Given the description of an element on the screen output the (x, y) to click on. 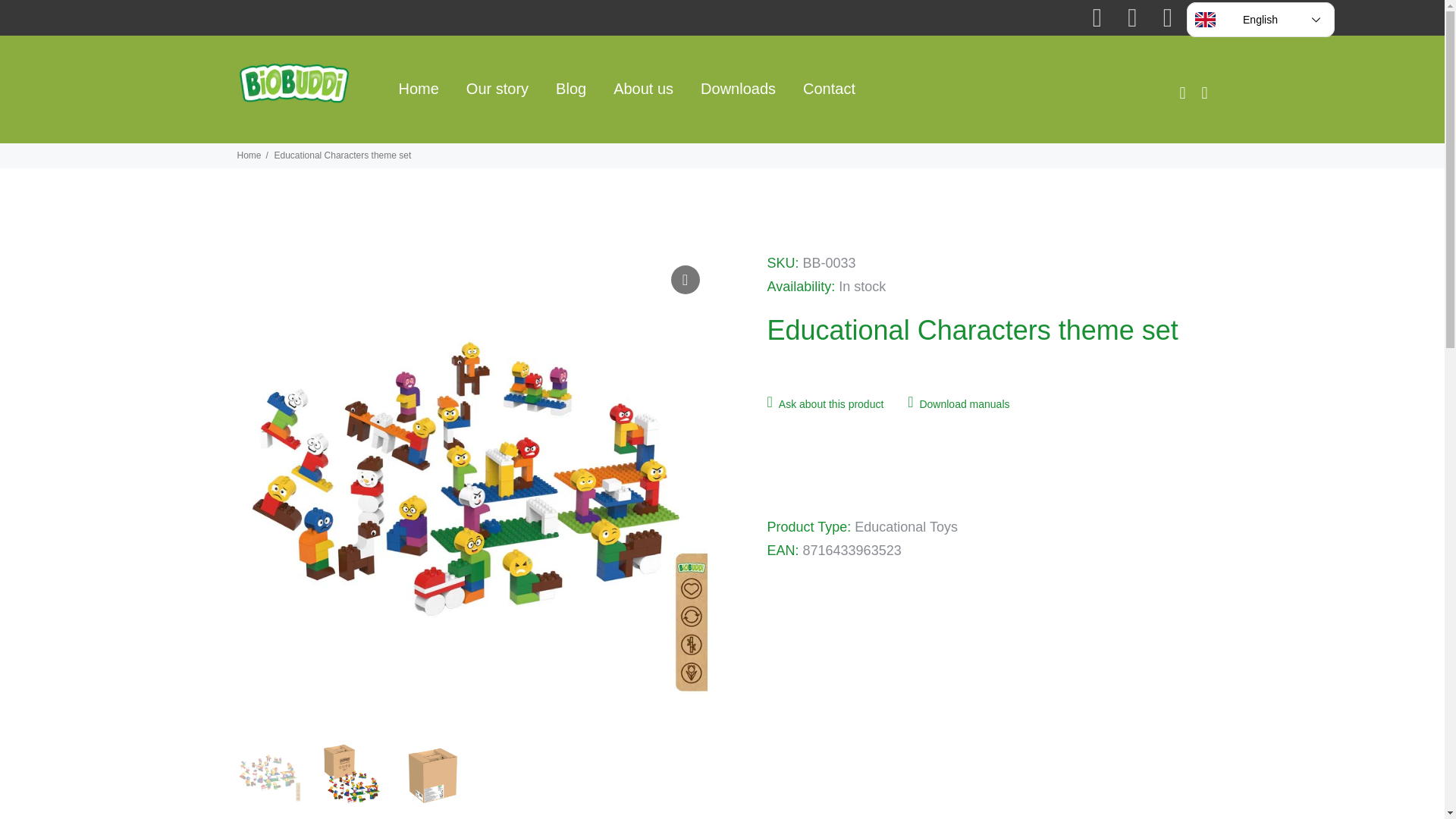
Downloads (738, 88)
Ask about this product   (833, 404)
Our story (496, 88)
About us (643, 88)
Home (421, 88)
Educational Toys (906, 526)
Blog (570, 88)
Contact (822, 88)
Download manuals (957, 404)
Home (247, 154)
